Given the description of an element on the screen output the (x, y) to click on. 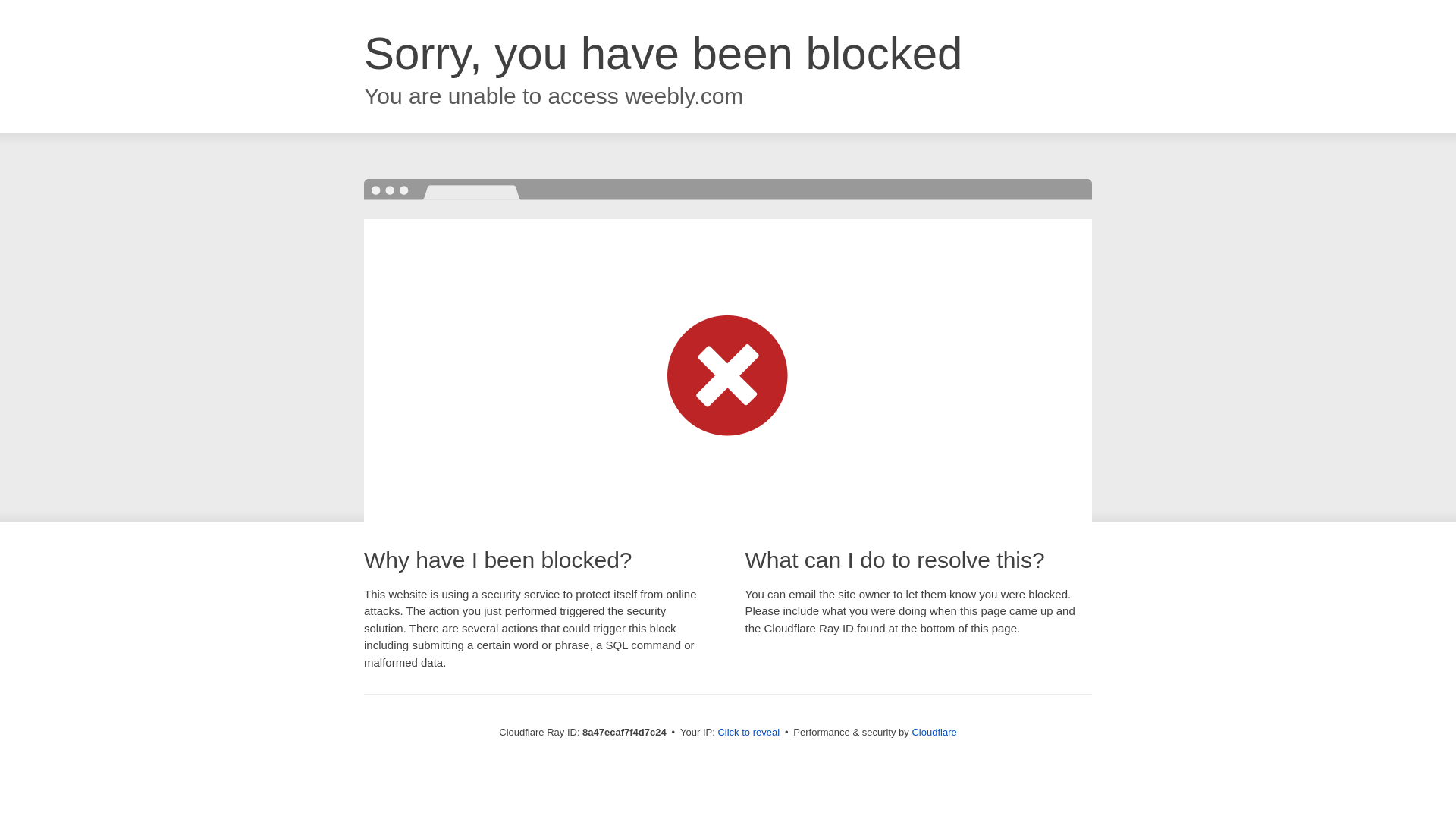
Click to reveal (747, 732)
Cloudflare (933, 731)
